Given the description of an element on the screen output the (x, y) to click on. 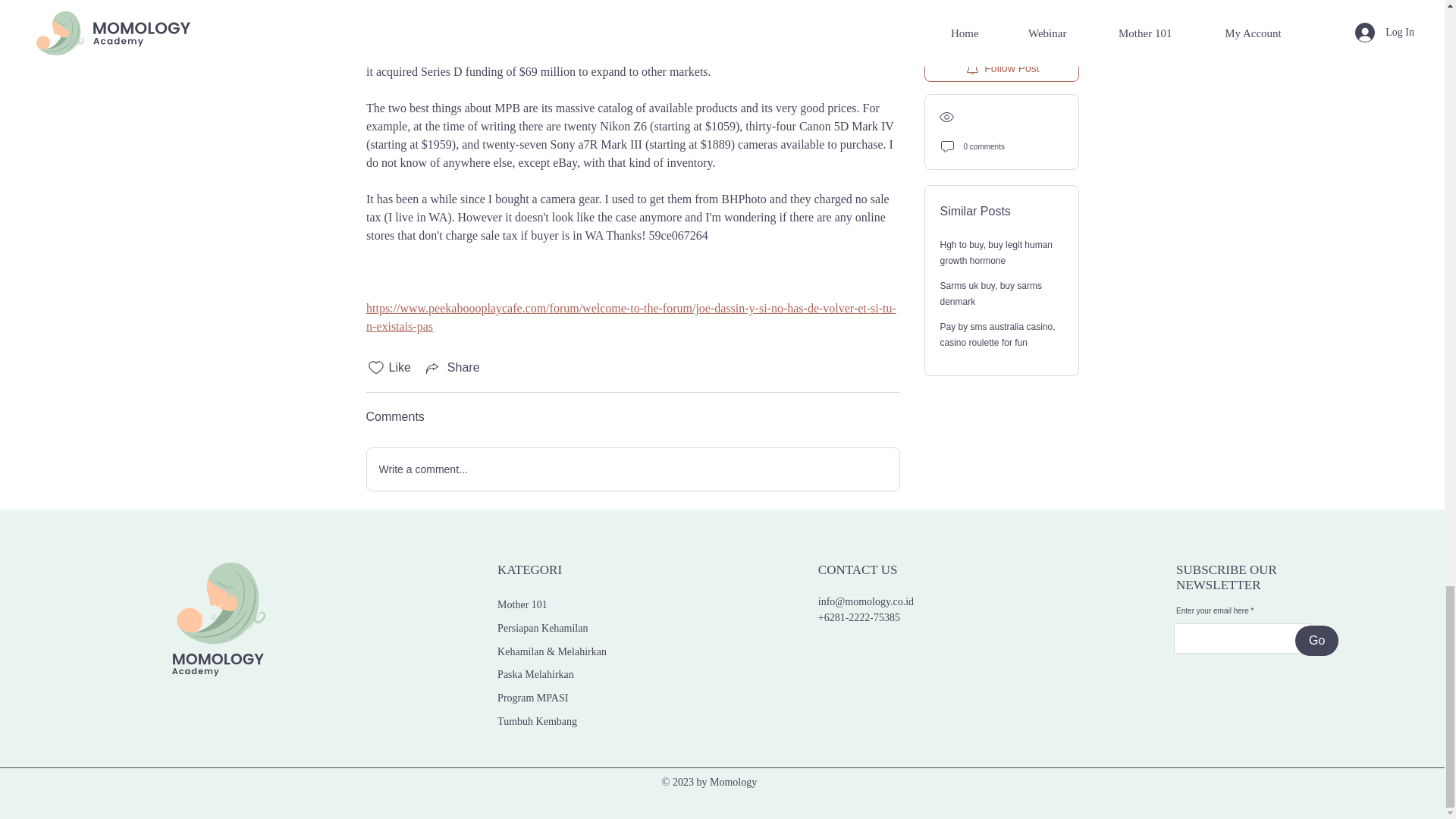
Mother 101 (522, 604)
Tumbuh Kembang (536, 721)
Go (1316, 640)
Persiapan Kehamilan (542, 627)
Program MPASI (532, 697)
Paska Melahirkan (535, 674)
Share (451, 367)
Write a comment... (632, 468)
